Given the description of an element on the screen output the (x, y) to click on. 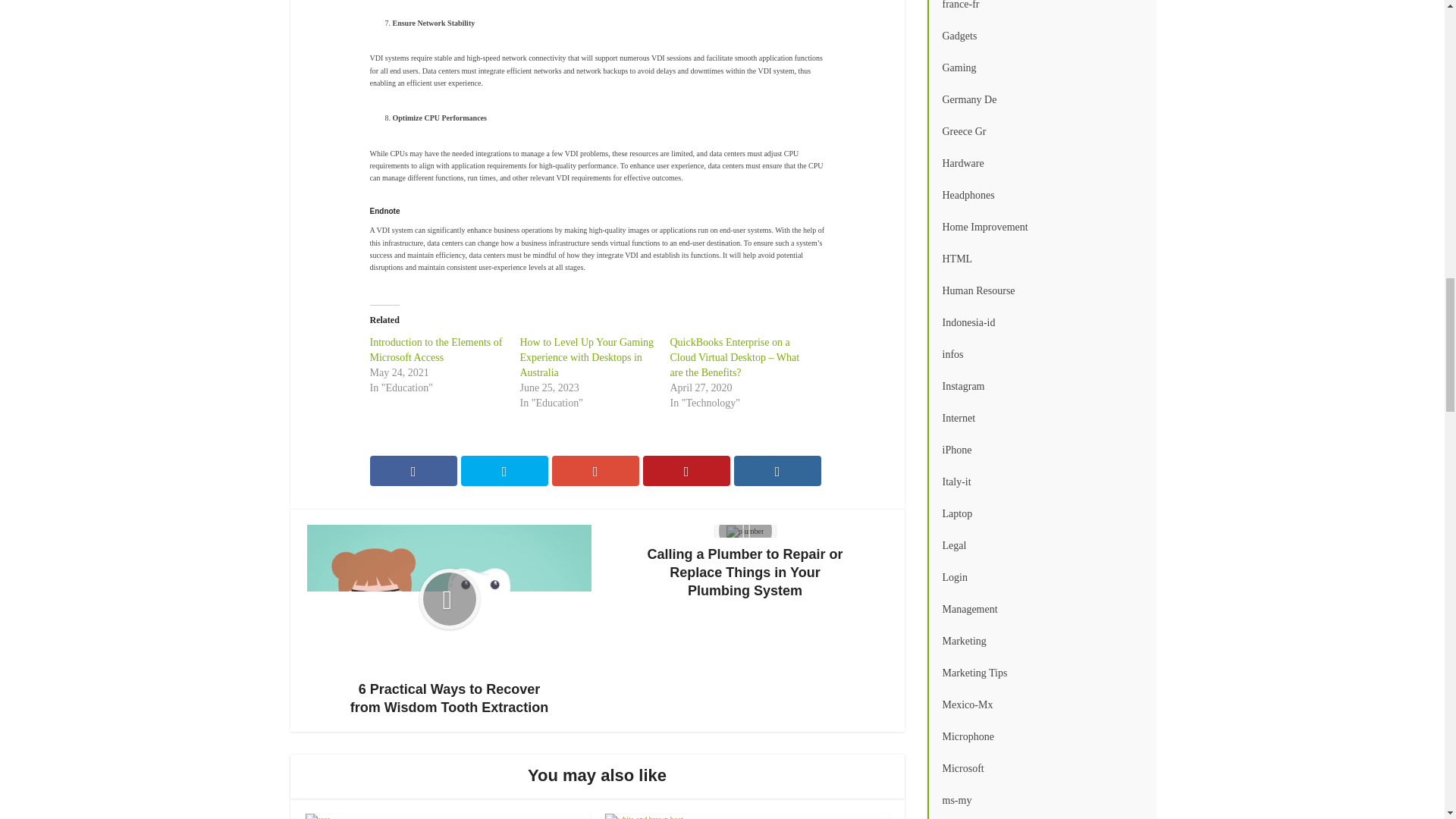
Introduction to the Elements of Microsoft Access (435, 349)
Los Cabos vs Punta Cana: Which Tropical Paradise... (797, 817)
6 Practical Ways to Recover from Wisdom Tooth Extraction (449, 620)
Introduction to the Elements of Microsoft Access (435, 349)
Transforming Real Estate: How SaaS and Growth Agencies... (496, 817)
